Given the description of an element on the screen output the (x, y) to click on. 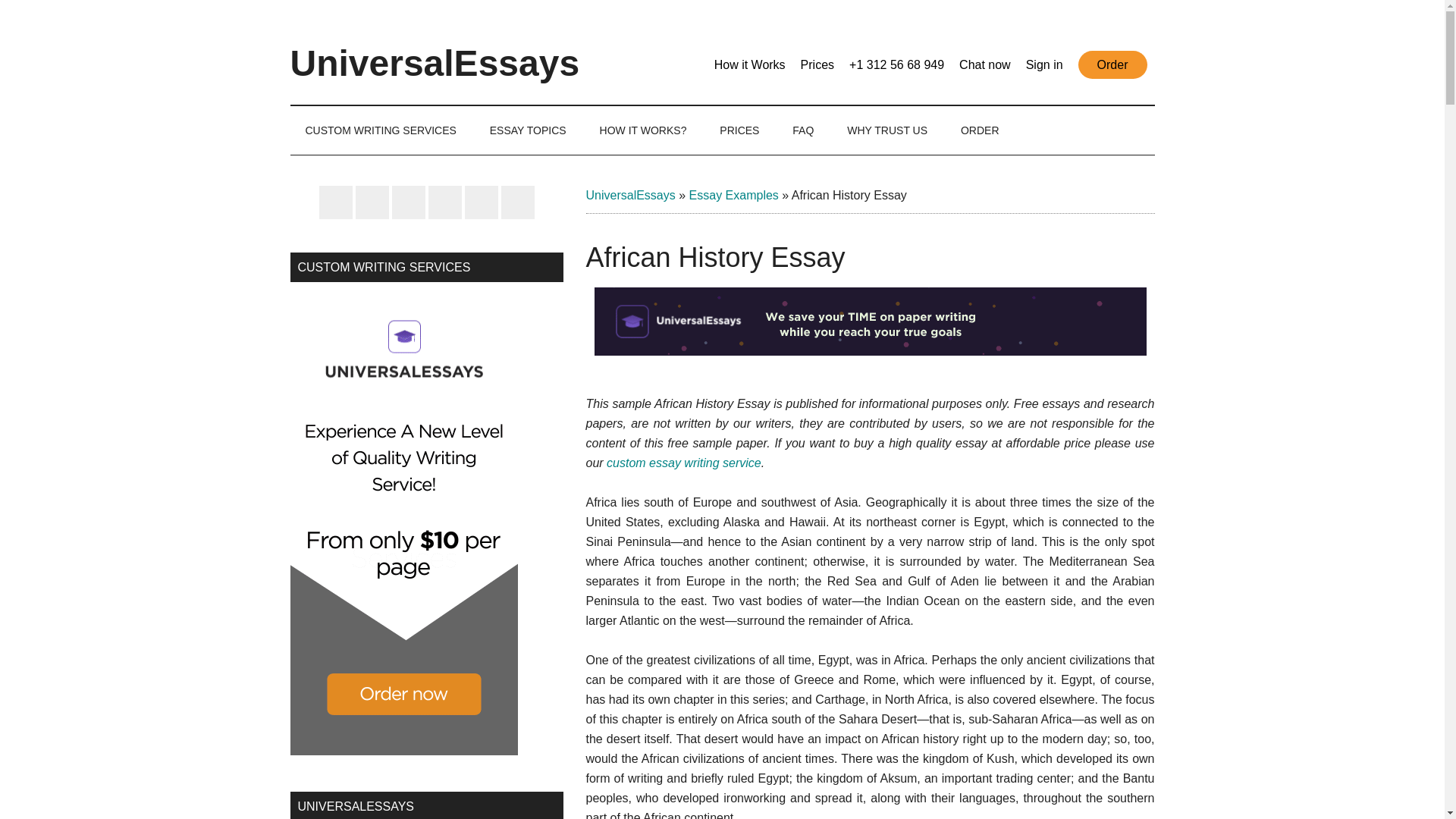
Chat now (984, 64)
CUSTOM WRITING SERVICES (379, 130)
FAQ (802, 130)
UniversalEssays (630, 195)
Top Quality Custom Writing Services (402, 750)
How it Works (750, 64)
PRICES (739, 130)
Order (1112, 64)
ESSAY TOPICS (527, 130)
ORDER (979, 130)
Sign in (1044, 64)
Prices (817, 64)
WHY TRUST US (886, 130)
UniversalEssays (434, 63)
